Given the description of an element on the screen output the (x, y) to click on. 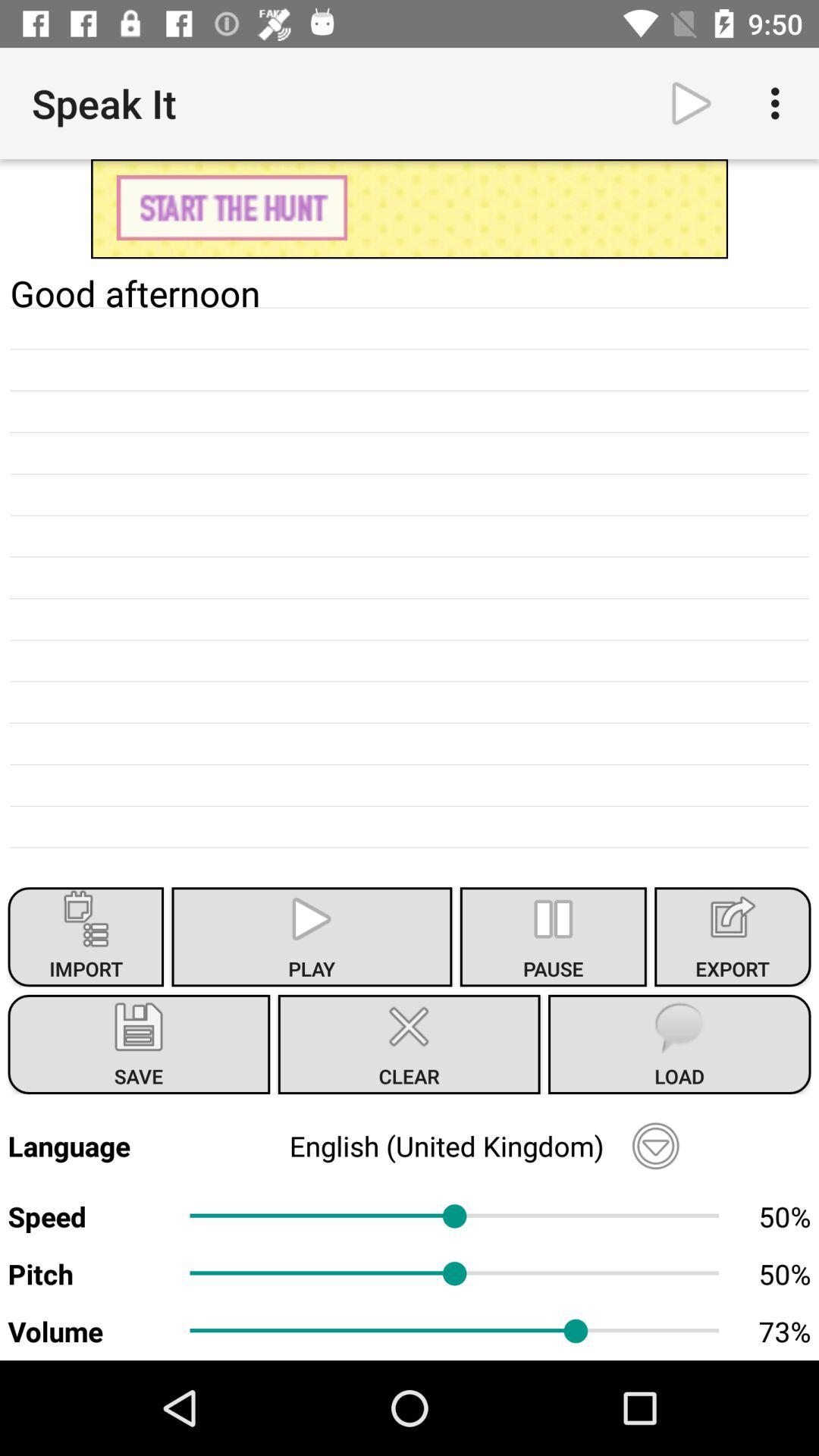
start the game (409, 208)
